Given the description of an element on the screen output the (x, y) to click on. 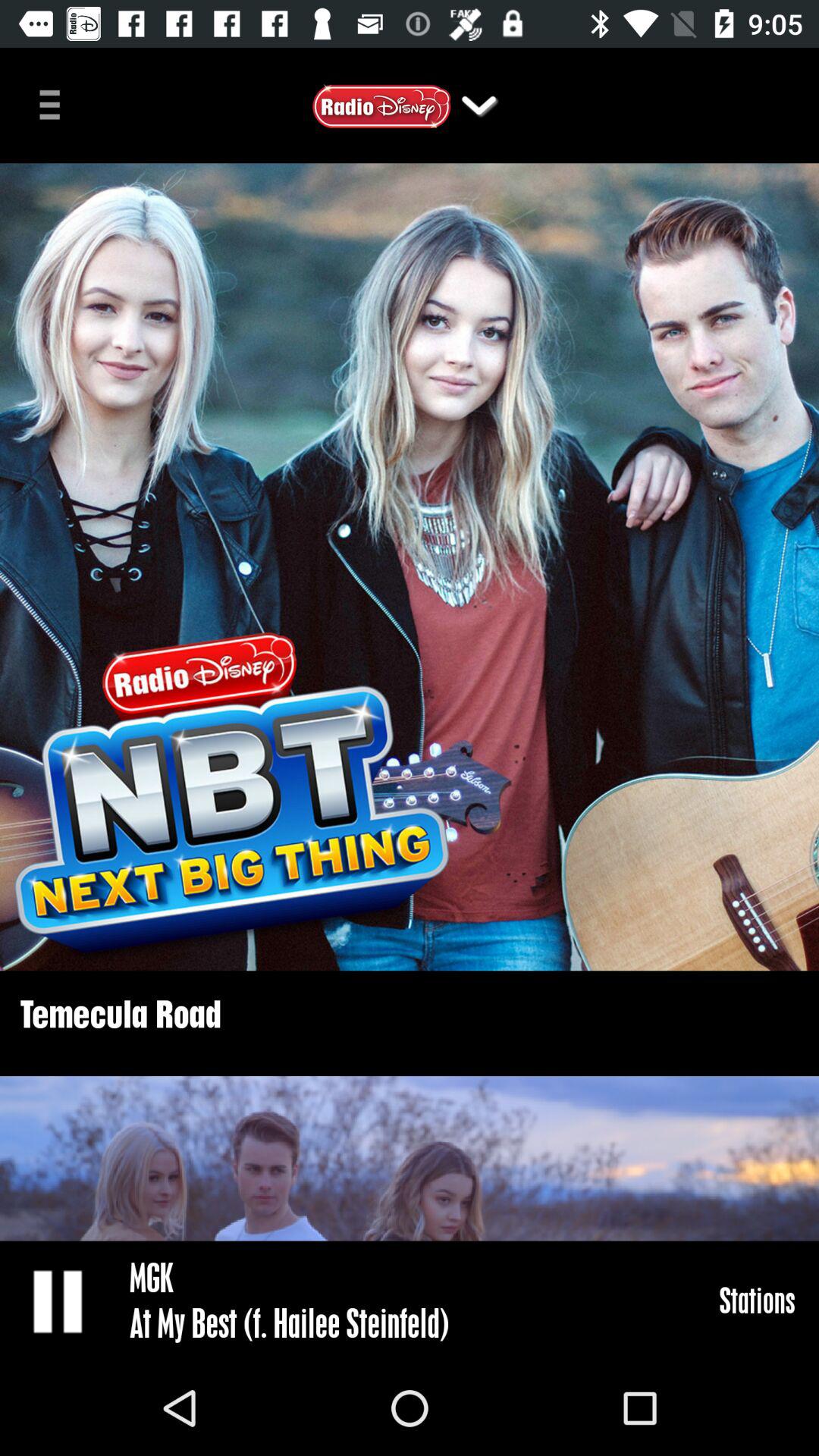
stop playing (59, 1300)
